Given the description of an element on the screen output the (x, y) to click on. 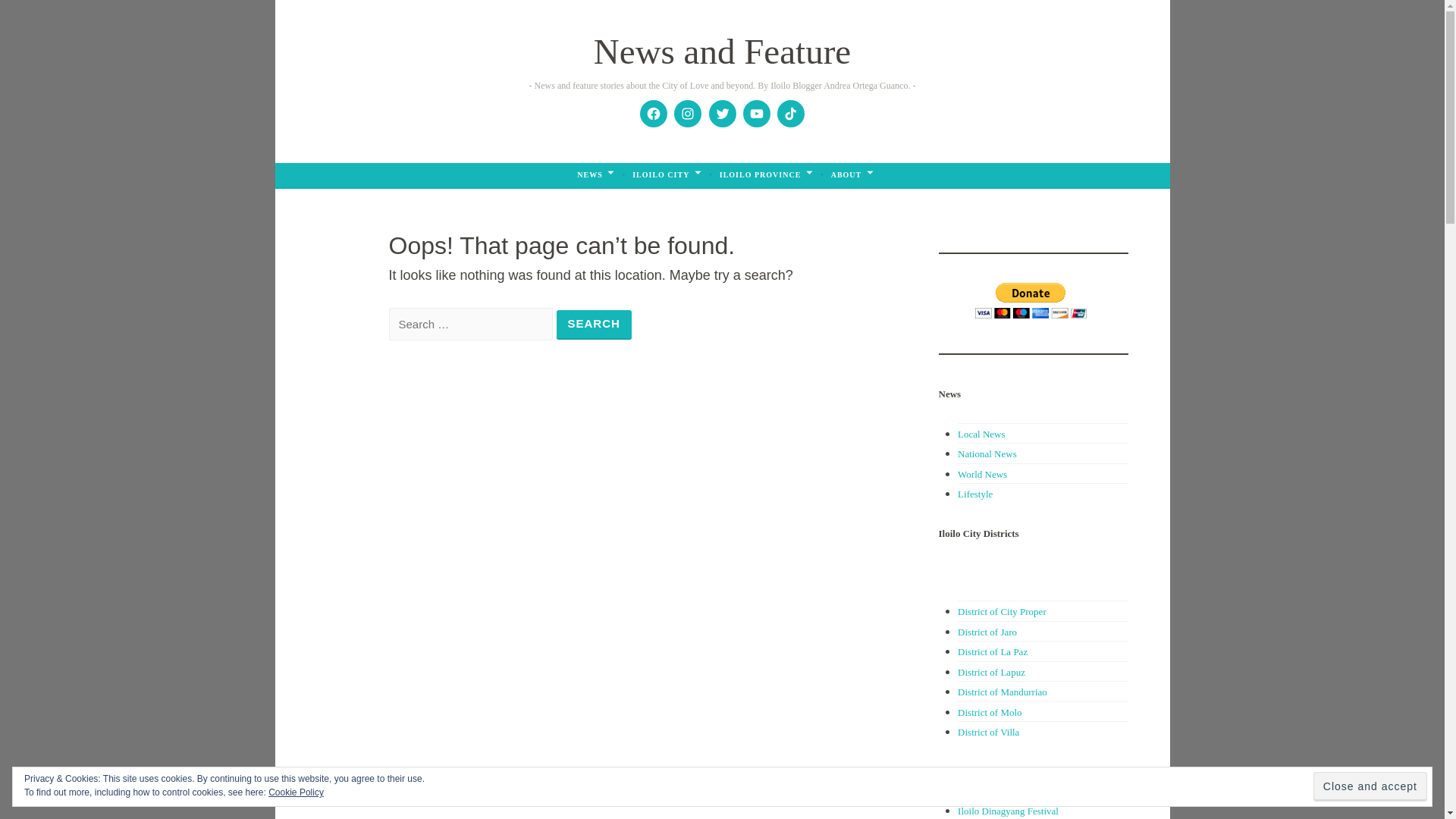
Facebook (653, 113)
Youtube (756, 113)
Search (593, 325)
Search (593, 325)
PayPal - The safer, easier way to pay online! (1030, 300)
News and Feature (722, 51)
Instagram (687, 113)
ILOILO CITY (666, 175)
NEWS (595, 175)
Twitter (721, 113)
